Given the description of an element on the screen output the (x, y) to click on. 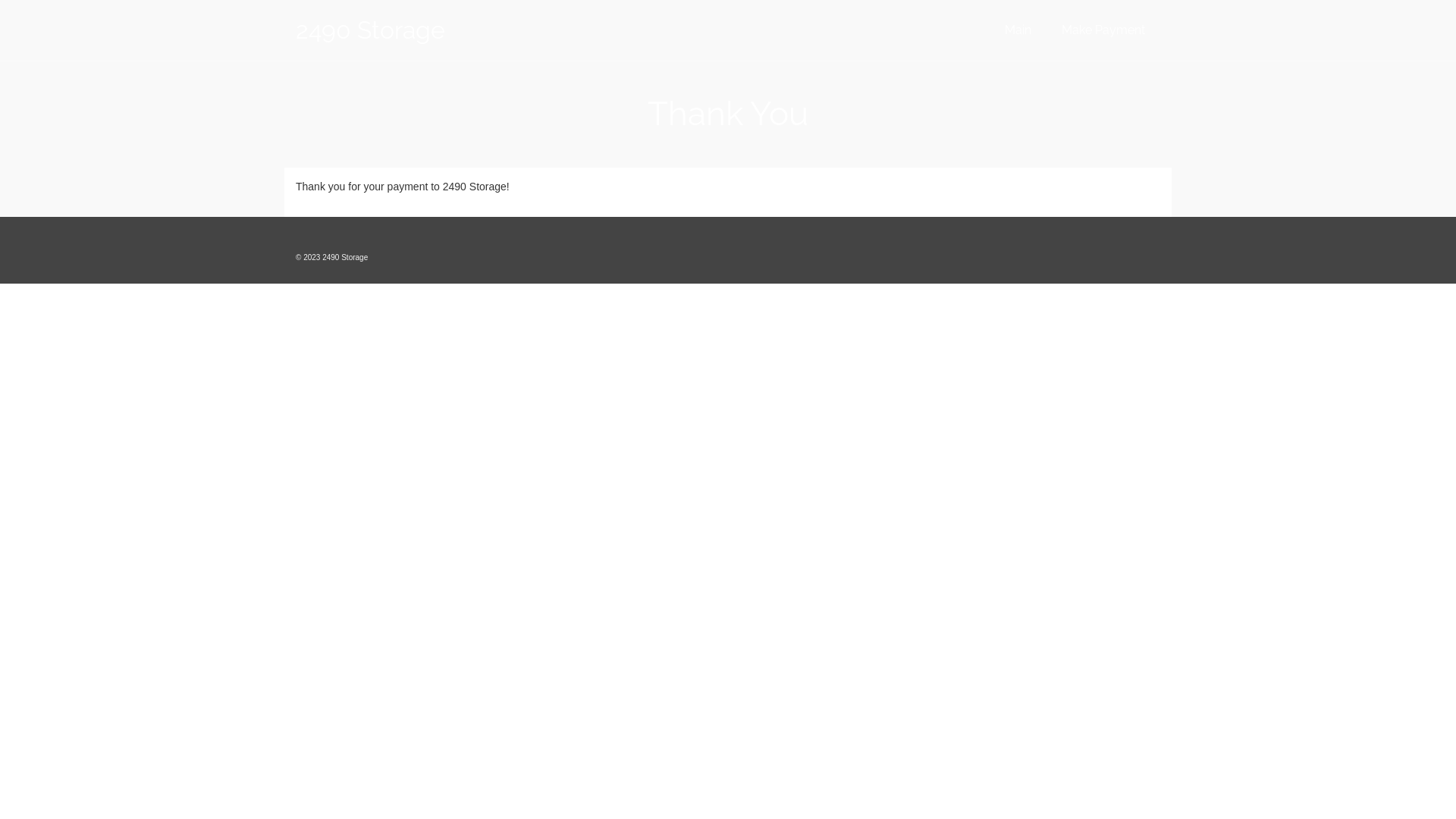
Make Payment Element type: text (1103, 30)
2490 Storage Element type: text (431, 30)
Main Element type: text (1017, 30)
